Given the description of an element on the screen output the (x, y) to click on. 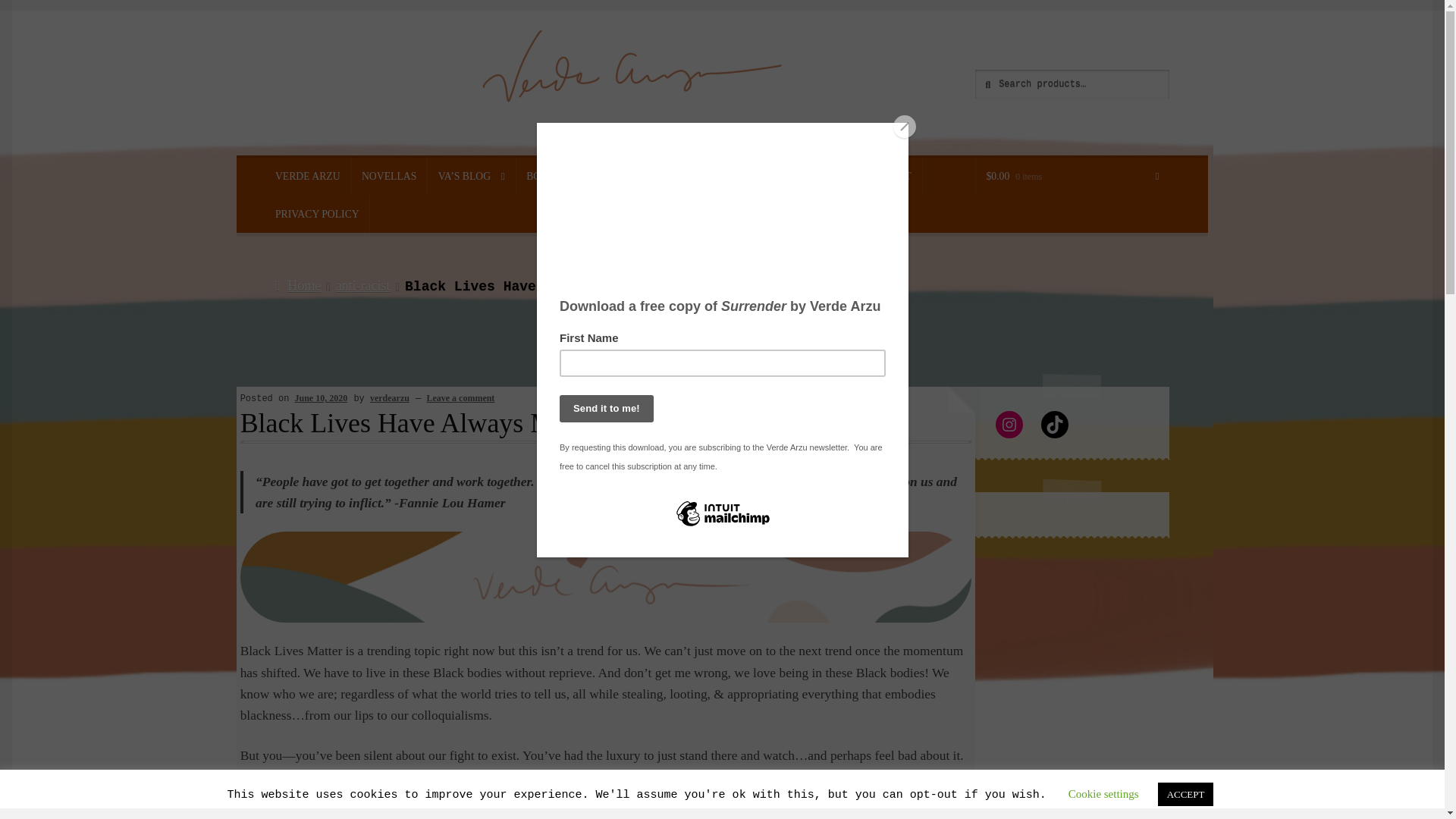
View your shopping cart (1072, 176)
PODCAST (887, 176)
NOVELLAS (388, 176)
BOOK REVIEWS (718, 176)
INTERVIEWS (811, 176)
BOOK EXCERPTS (568, 176)
PRIVACY POLICY (316, 214)
SHOP (644, 176)
VERDE ARZU (307, 176)
